Given the description of an element on the screen output the (x, y) to click on. 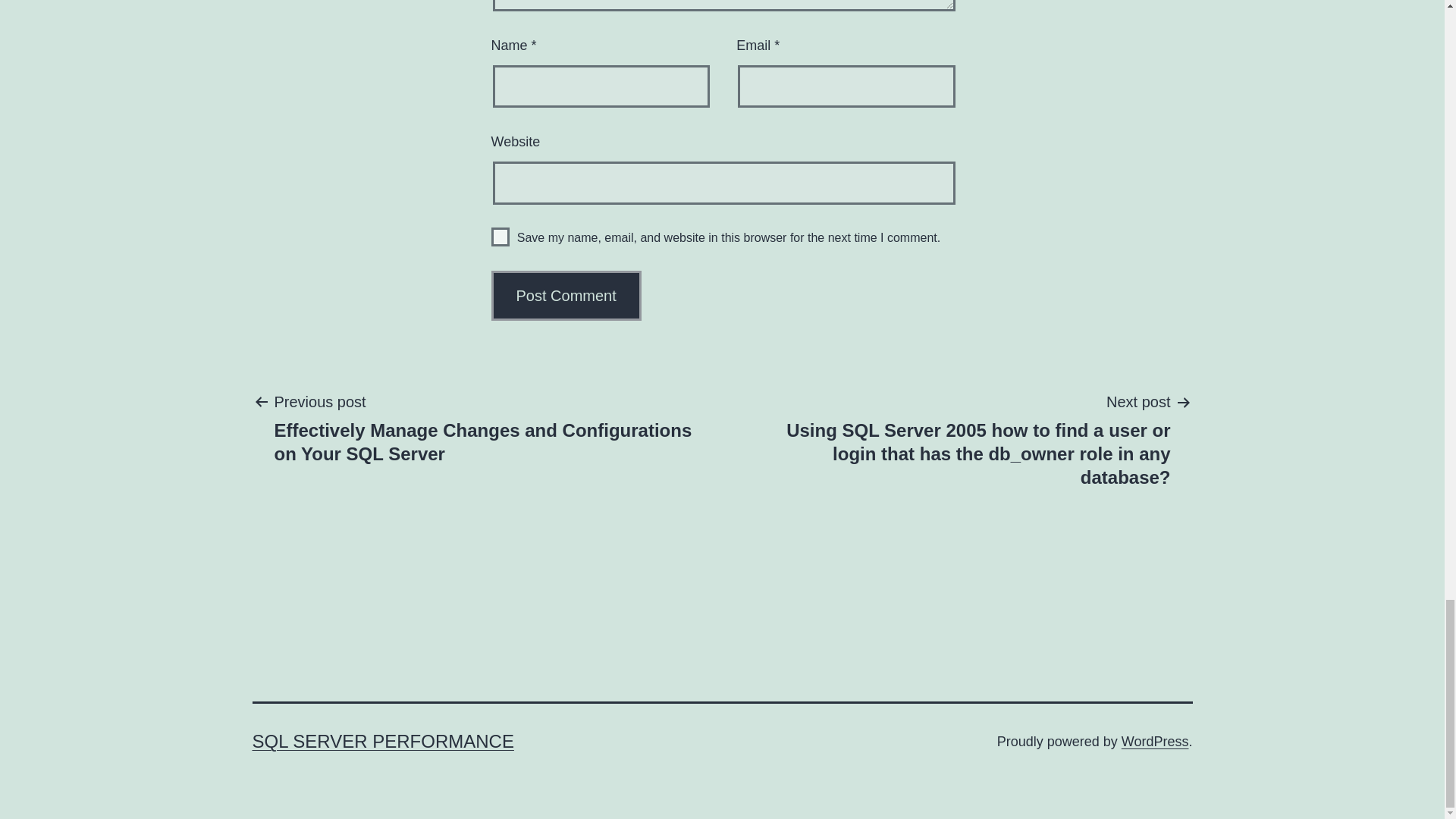
SQL SERVER PERFORMANCE (382, 741)
Post Comment (567, 296)
yes (500, 236)
WordPress (1155, 741)
Post Comment (567, 296)
